Given the description of an element on the screen output the (x, y) to click on. 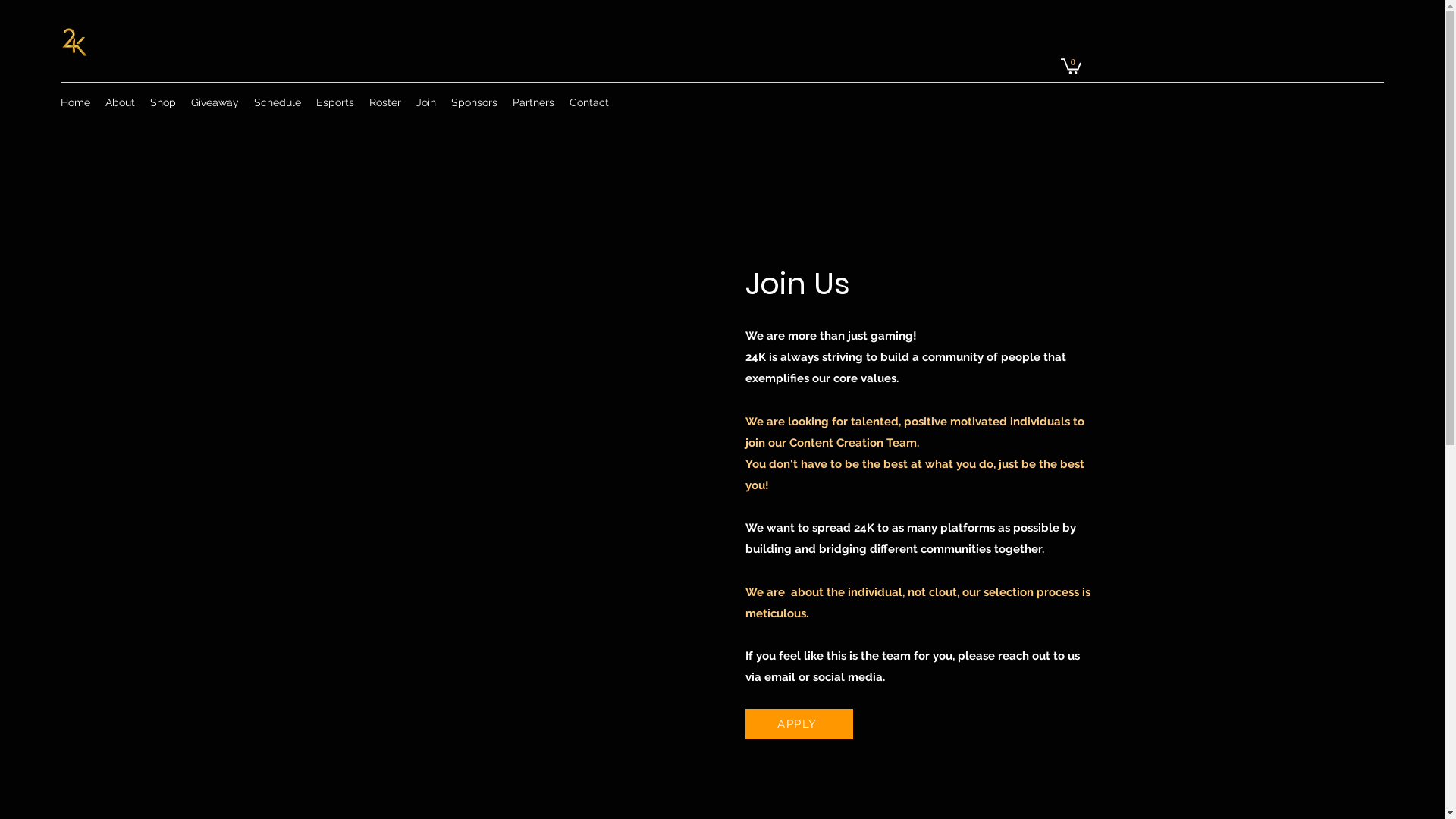
0 Element type: text (1070, 65)
Schedule Element type: text (277, 102)
Shop Element type: text (162, 102)
Contact Element type: text (588, 102)
Esports Element type: text (334, 102)
Sponsors Element type: text (474, 102)
Home Element type: text (75, 102)
Partners Element type: text (533, 102)
About Element type: text (119, 102)
Join Element type: text (425, 102)
Giveaway Element type: text (214, 102)
Roster Element type: text (384, 102)
APPLY Element type: text (798, 724)
